Given the description of an element on the screen output the (x, y) to click on. 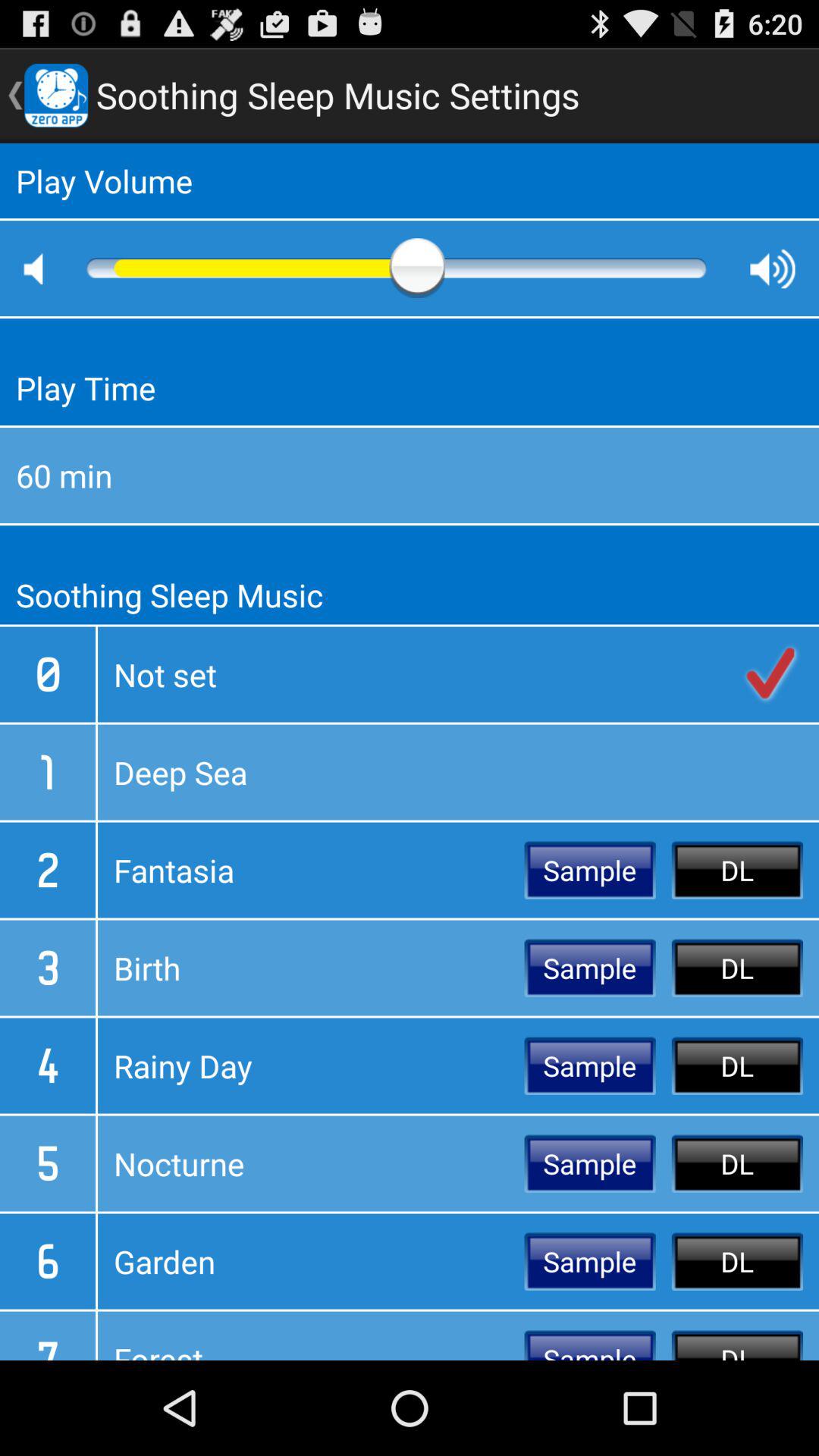
flip to the nocturne (310, 1163)
